Given the description of an element on the screen output the (x, y) to click on. 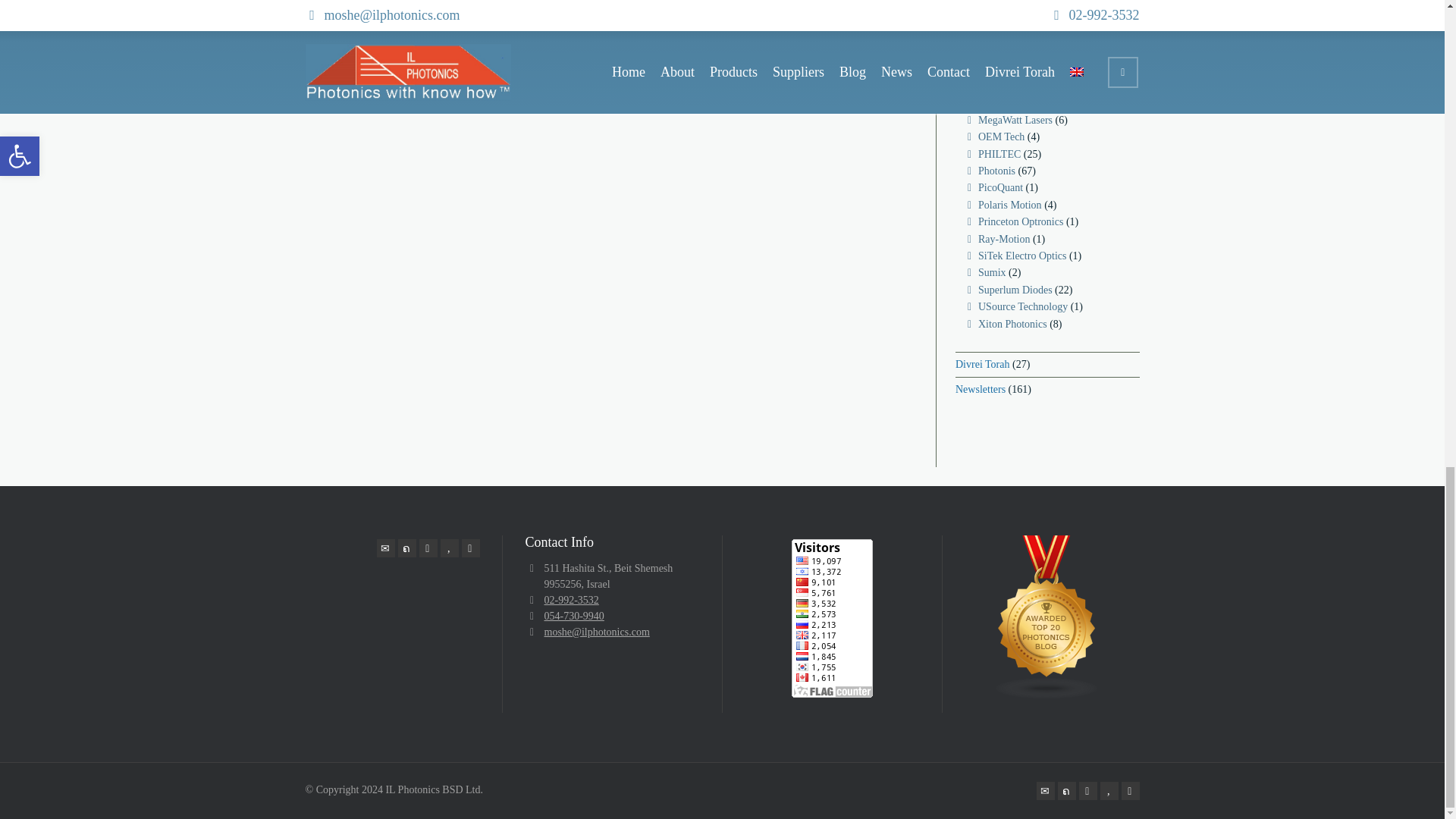
YouTube (448, 547)
X (1066, 791)
Linkedin (427, 547)
Email (384, 547)
WhatsApp (470, 547)
Linkedin (1087, 791)
X (405, 547)
YouTube (1108, 791)
Email (1044, 791)
